Given the description of an element on the screen output the (x, y) to click on. 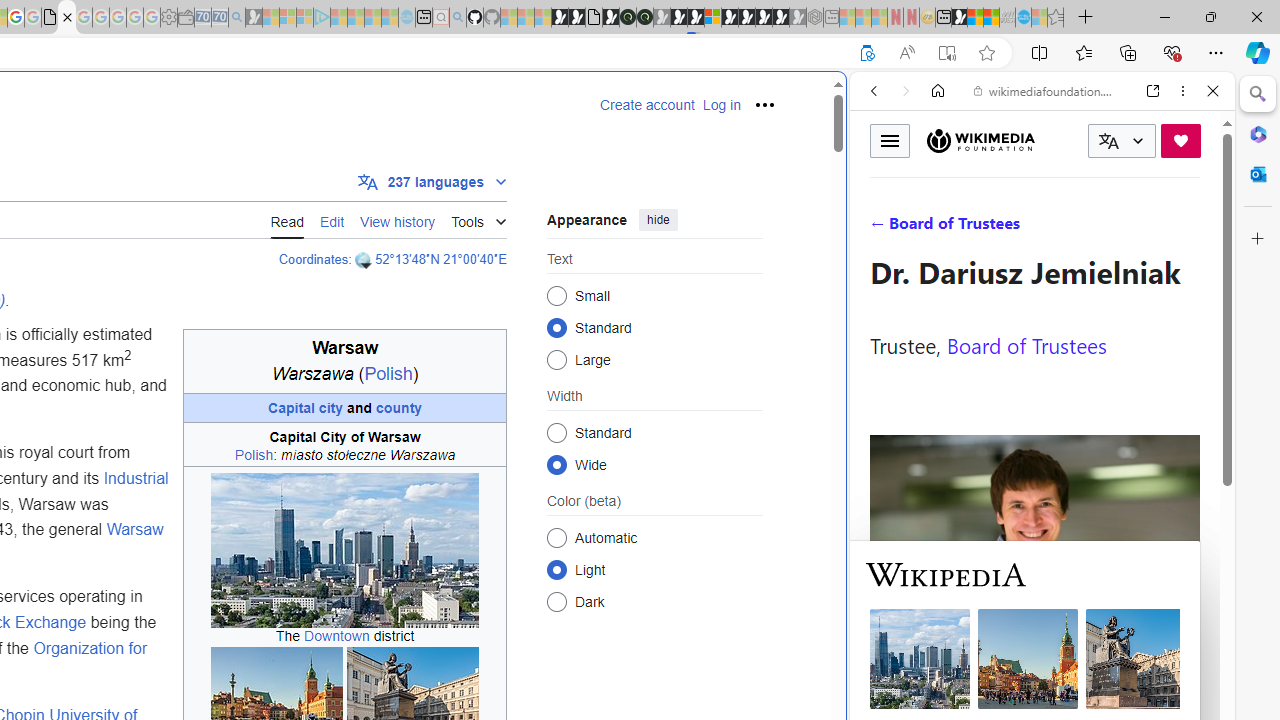
Future Focus Report 2024 (644, 17)
Coordinates (313, 259)
Class: mergedtoprow ib-settlement-official (344, 444)
Warsaw business district from Novotel (345, 551)
Class: mw-list-item mw-list-item-js (654, 569)
Warsaw business district from Novotel (345, 551)
